Given the description of an element on the screen output the (x, y) to click on. 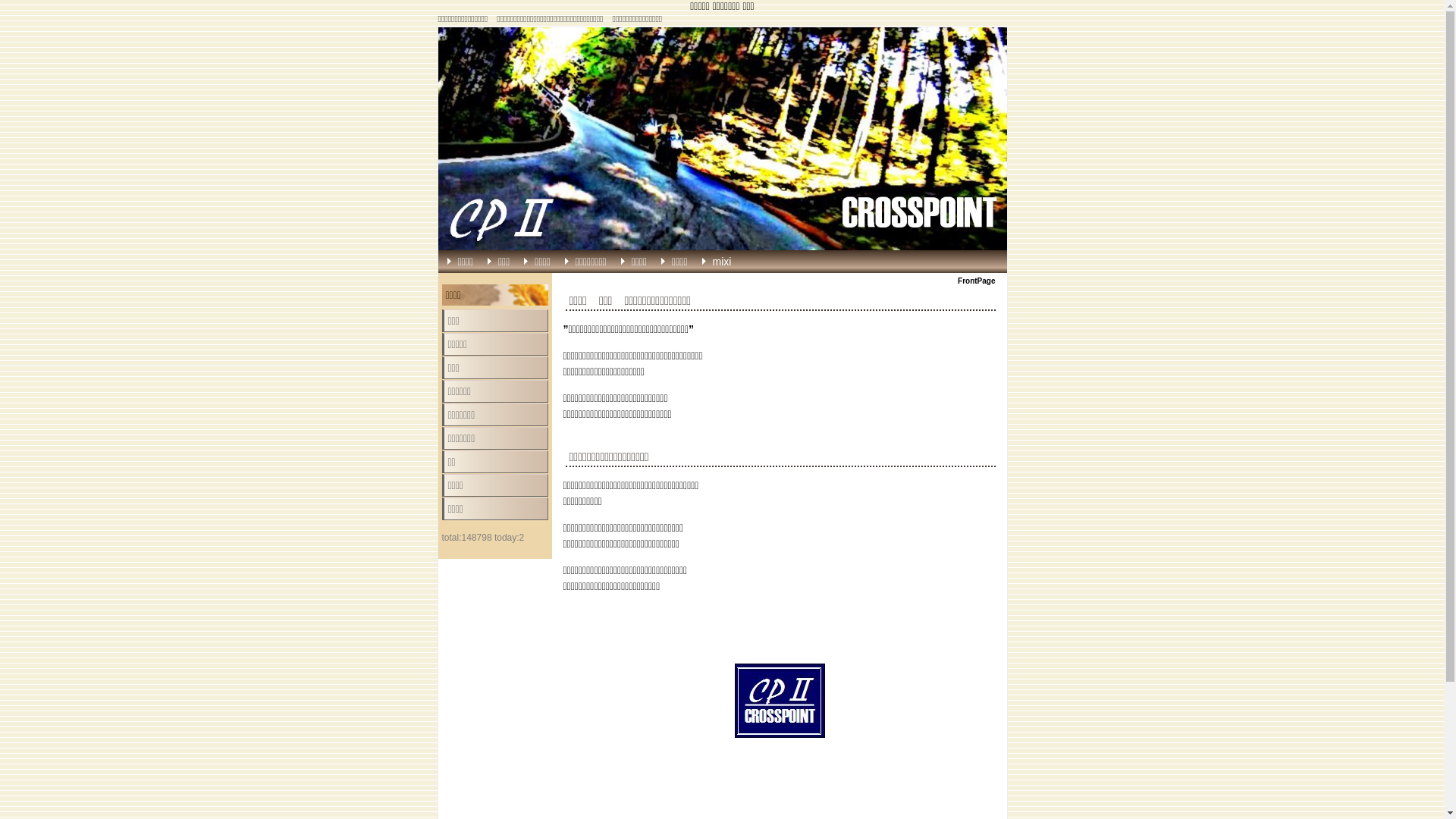
mixi Element type: text (732, 261)
